Given the description of an element on the screen output the (x, y) to click on. 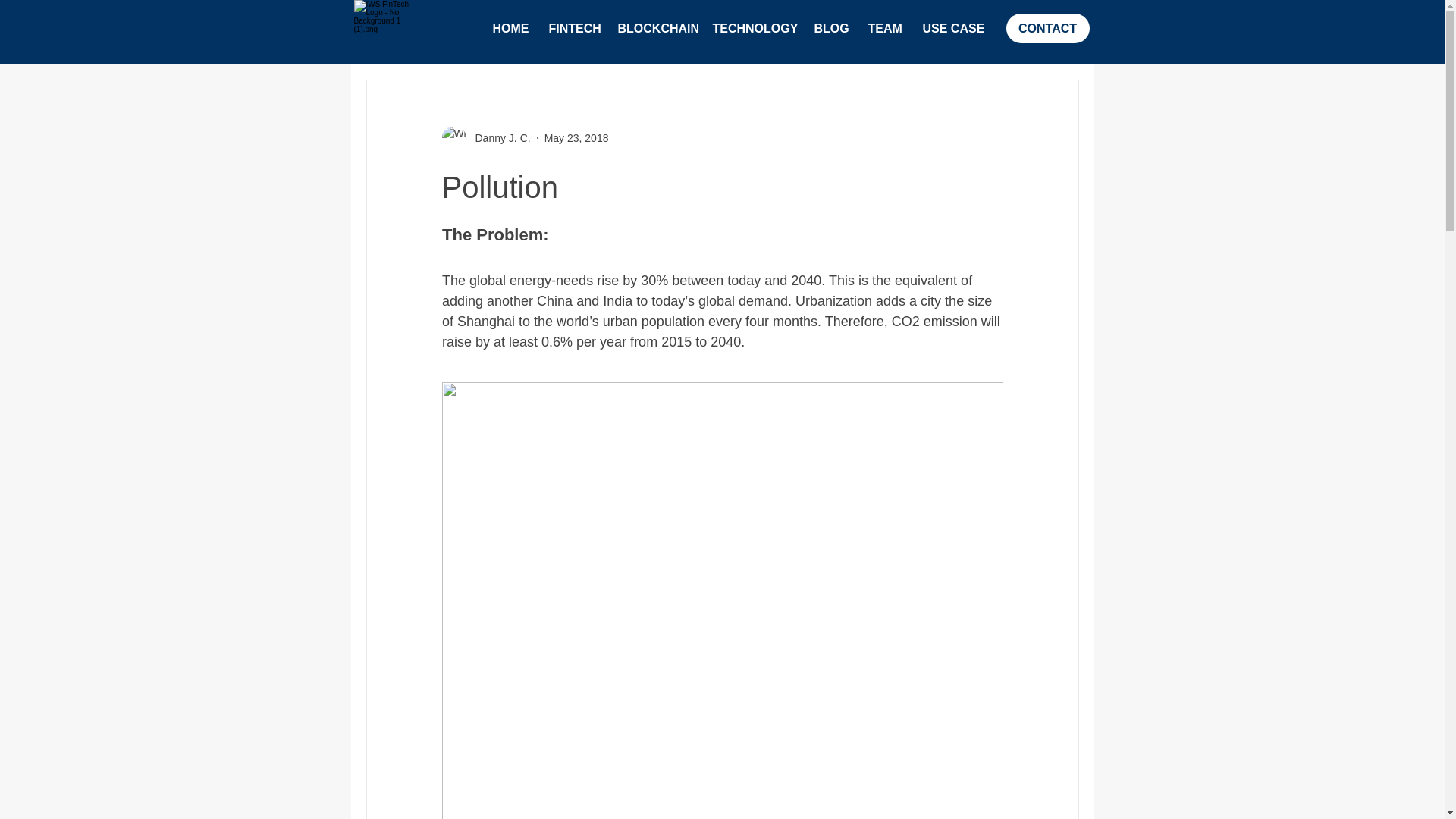
FINTECH (571, 28)
Danny J. C. (497, 138)
TEAM (884, 28)
May 23, 2018 (576, 137)
CONTACT (1047, 28)
TECHNOLOGY (751, 28)
HOME (508, 28)
BLOG (829, 28)
BLOCKCHAIN (654, 28)
USE CASE (949, 28)
